Given the description of an element on the screen output the (x, y) to click on. 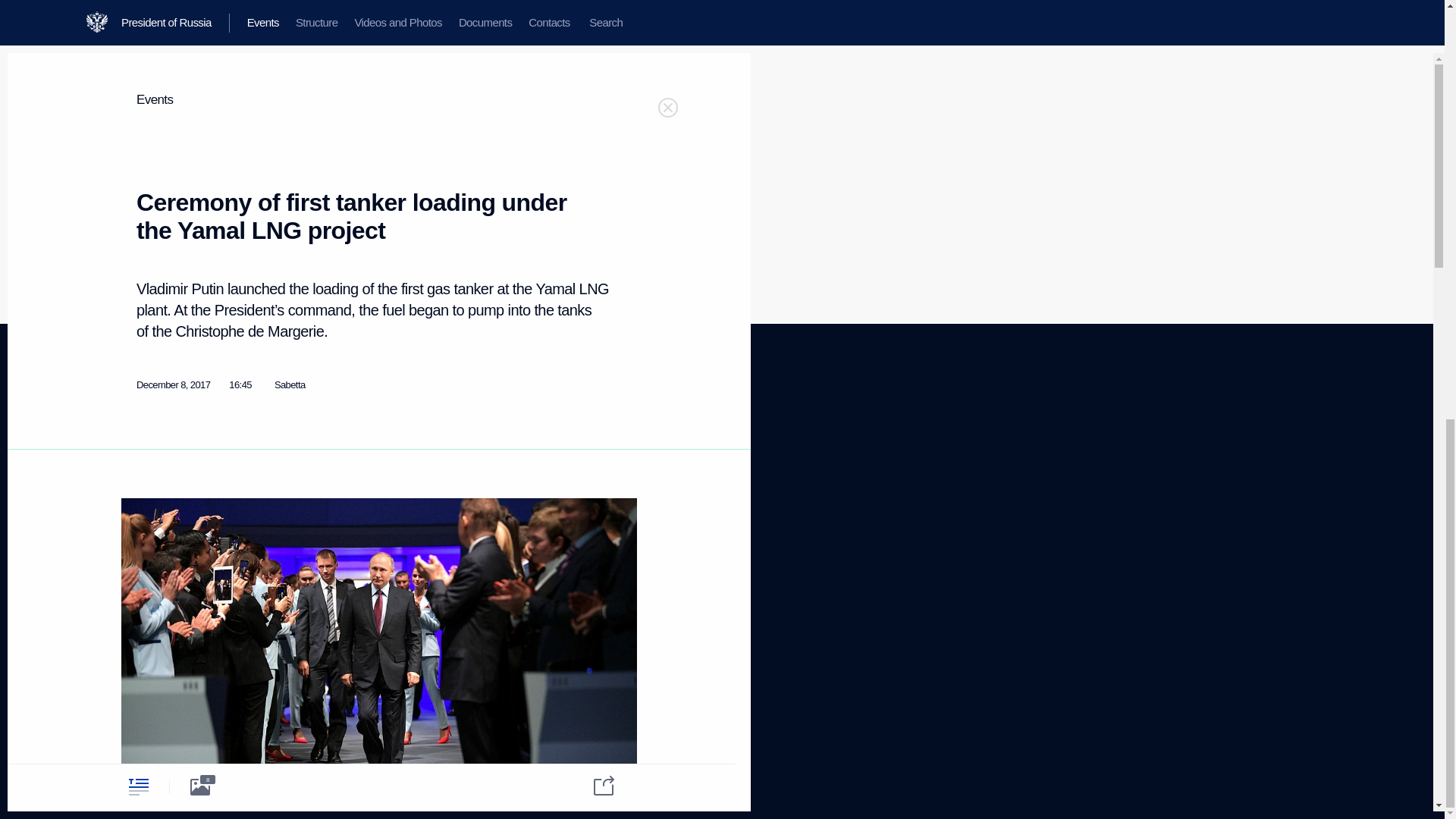
Using website content (574, 460)
The Constitution of Russia (309, 472)
Version for People with Disabilities (165, 668)
Contact website team (573, 510)
Contacts (138, 516)
For the Media (148, 571)
YouTube Channel (429, 474)
Personal data of website users (579, 485)
Structure (138, 460)
Documents (143, 497)
Telegram Channel (317, 447)
Videos and Photos (430, 455)
Subscribe (158, 478)
Events (140, 606)
